Given the description of an element on the screen output the (x, y) to click on. 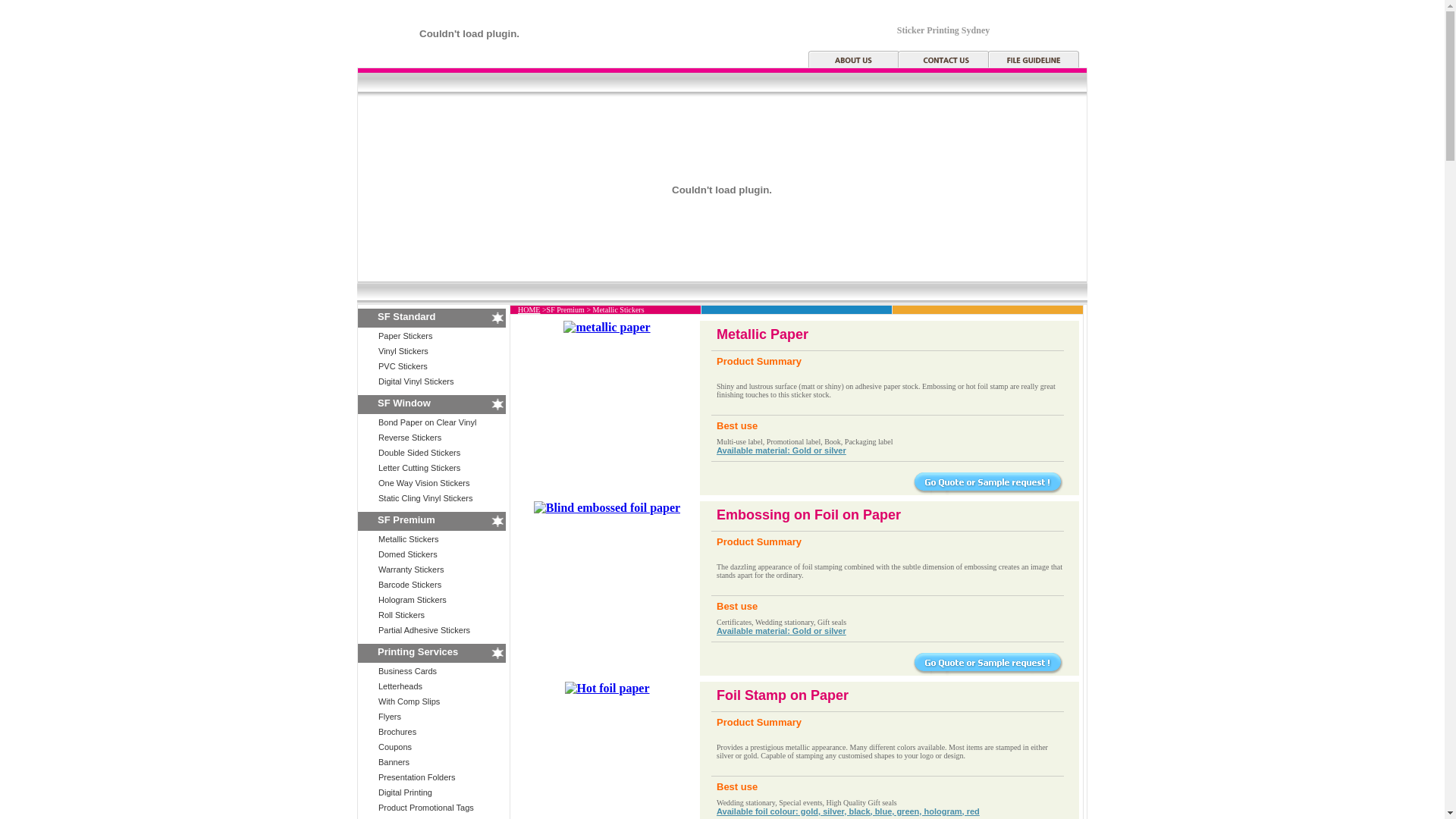
HOME Element type: text (528, 309)
Brochures Element type: text (397, 731)
Vinyl Stickers Element type: text (403, 350)
Bond Paper on Clear Vinyl Element type: text (427, 421)
Coupons Element type: text (394, 746)
Product Promotional Tags Element type: text (425, 807)
With Comp Slips Element type: text (408, 701)
Warranty Stickers Element type: text (410, 569)
Digital Printing Element type: text (405, 792)
One Way Vision Stickers Element type: text (423, 482)
Barcode Stickers Element type: text (409, 584)
Double Sided Stickers Element type: text (419, 452)
Domed Stickers Element type: text (407, 553)
Static Cling Vinyl Stickers Element type: text (425, 497)
Business Cards Element type: text (407, 670)
Paper Stickers Element type: text (405, 335)
Reverse Stickers Element type: text (409, 437)
Metallic Stickers Element type: text (408, 538)
Digital Vinyl Stickers Element type: text (415, 380)
Roll Stickers Element type: text (401, 614)
Hologram Stickers Element type: text (412, 599)
Flyers Element type: text (389, 716)
Partial Adhesive Stickers Element type: text (424, 629)
Letter Cutting Stickers Element type: text (419, 467)
PVC Stickers Element type: text (402, 365)
Presentation Folders Element type: text (416, 776)
Letterheads Element type: text (400, 685)
Banners Element type: text (393, 761)
